Given the description of an element on the screen output the (x, y) to click on. 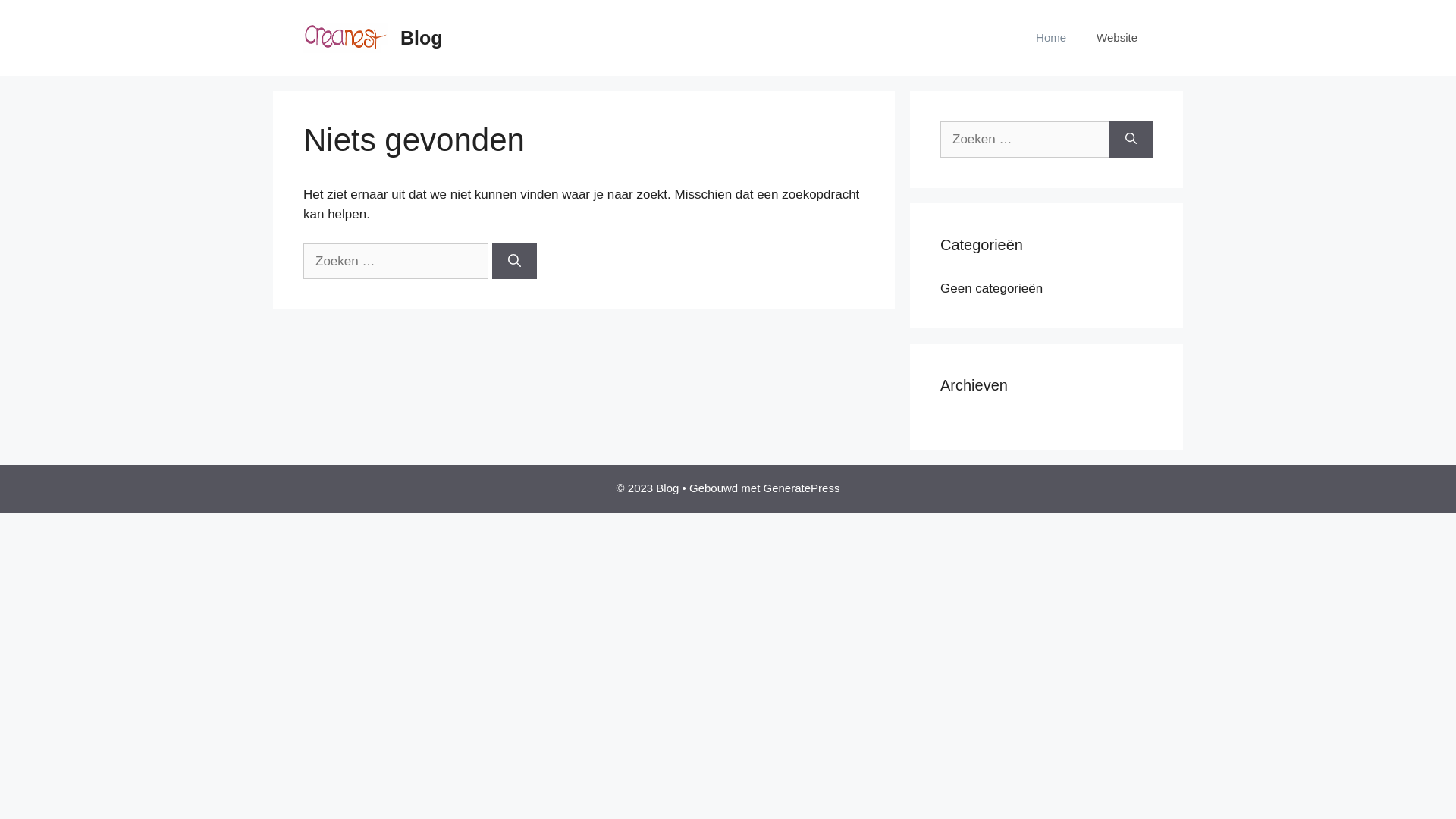
Website Element type: text (1116, 37)
Zoek naar: Element type: hover (395, 261)
 Blog Element type: hover (345, 36)
Home Element type: text (1050, 37)
Blog Element type: text (421, 37)
 Blog Element type: hover (345, 37)
GeneratePress Element type: text (801, 487)
Zoek naar: Element type: hover (1024, 139)
